Given the description of an element on the screen output the (x, y) to click on. 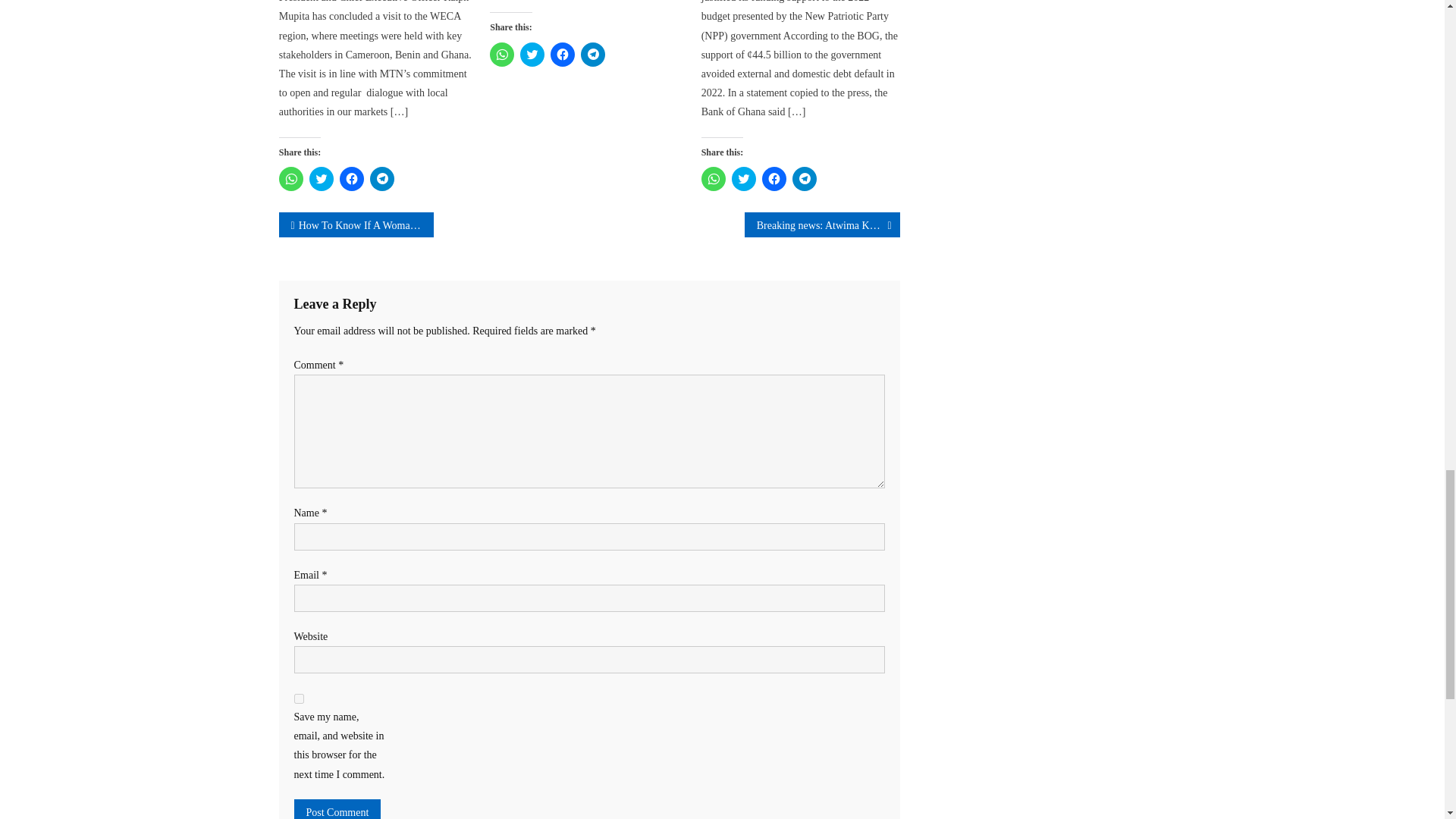
Click to share on Twitter (531, 54)
Click to share on Telegram (381, 178)
Click to share on Twitter (320, 178)
Click to share on WhatsApp (501, 54)
Post Comment (337, 809)
Click to share on Facebook (562, 54)
Click to share on WhatsApp (290, 178)
yes (299, 698)
Click to share on WhatsApp (713, 178)
Click to share on Telegram (592, 54)
Click to share on Facebook (351, 178)
